Given the description of an element on the screen output the (x, y) to click on. 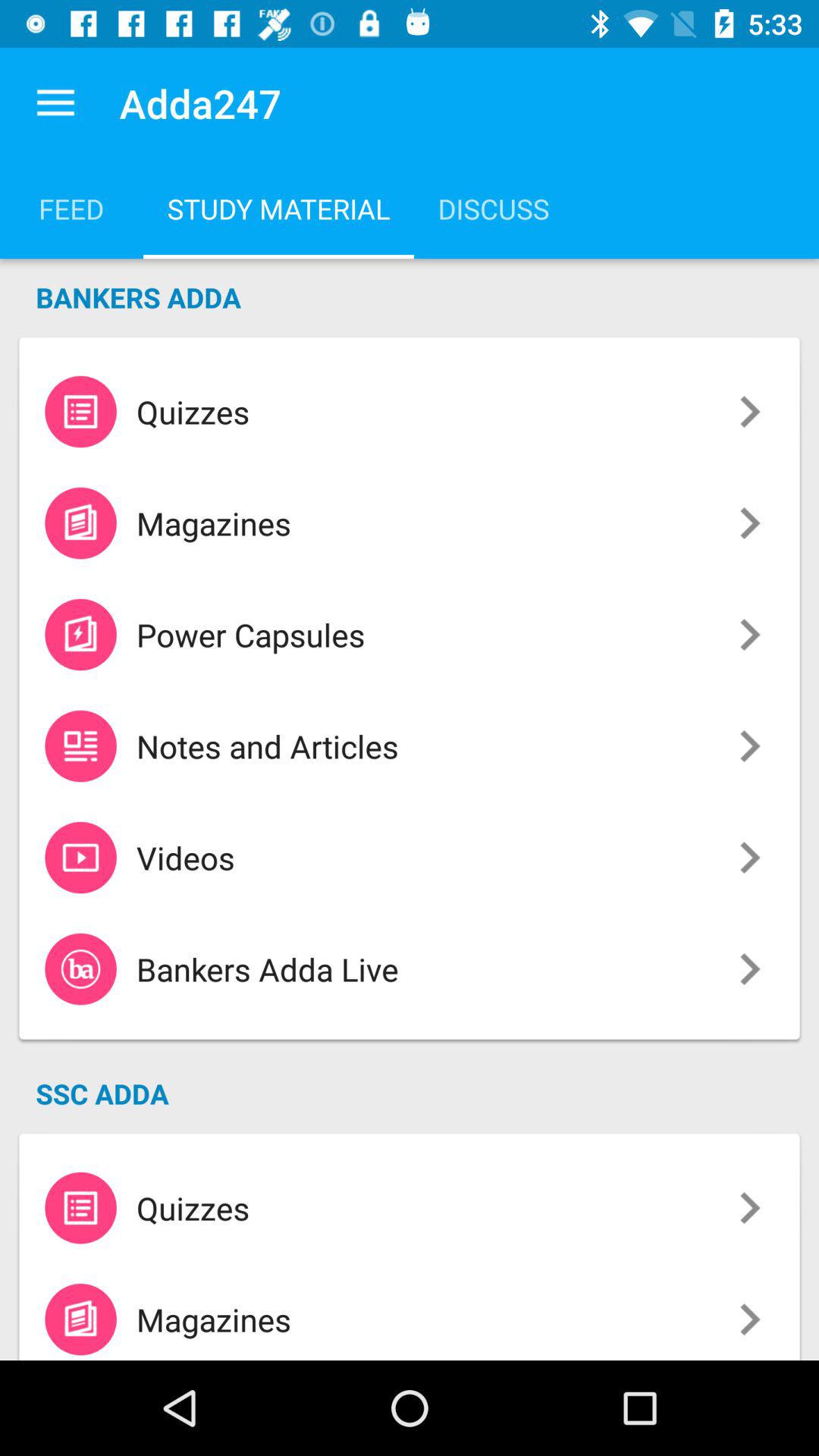
click icon above the feed item (55, 103)
